Given the description of an element on the screen output the (x, y) to click on. 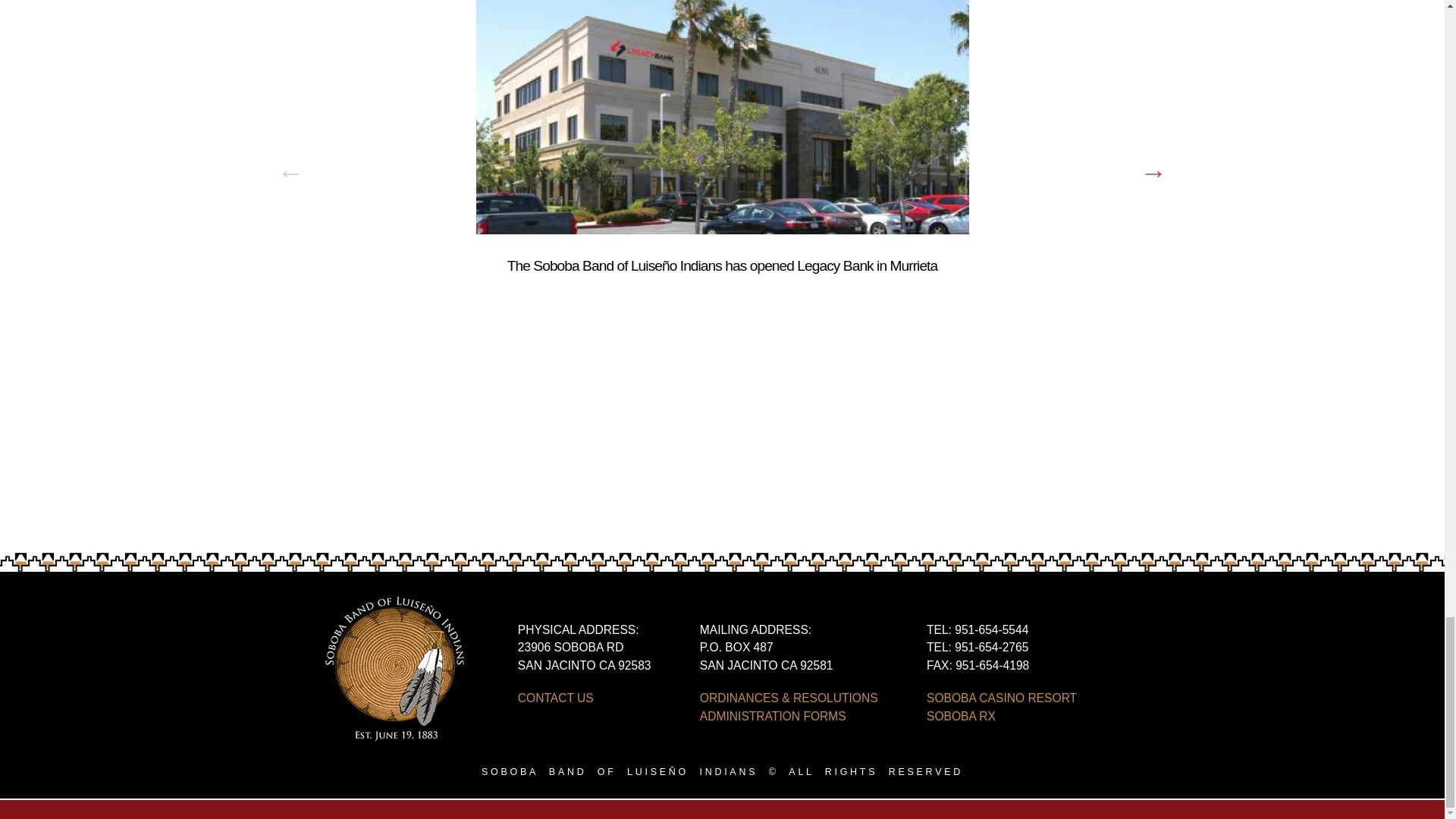
Soboba Casino Resort Website (1001, 697)
